Given the description of an element on the screen output the (x, y) to click on. 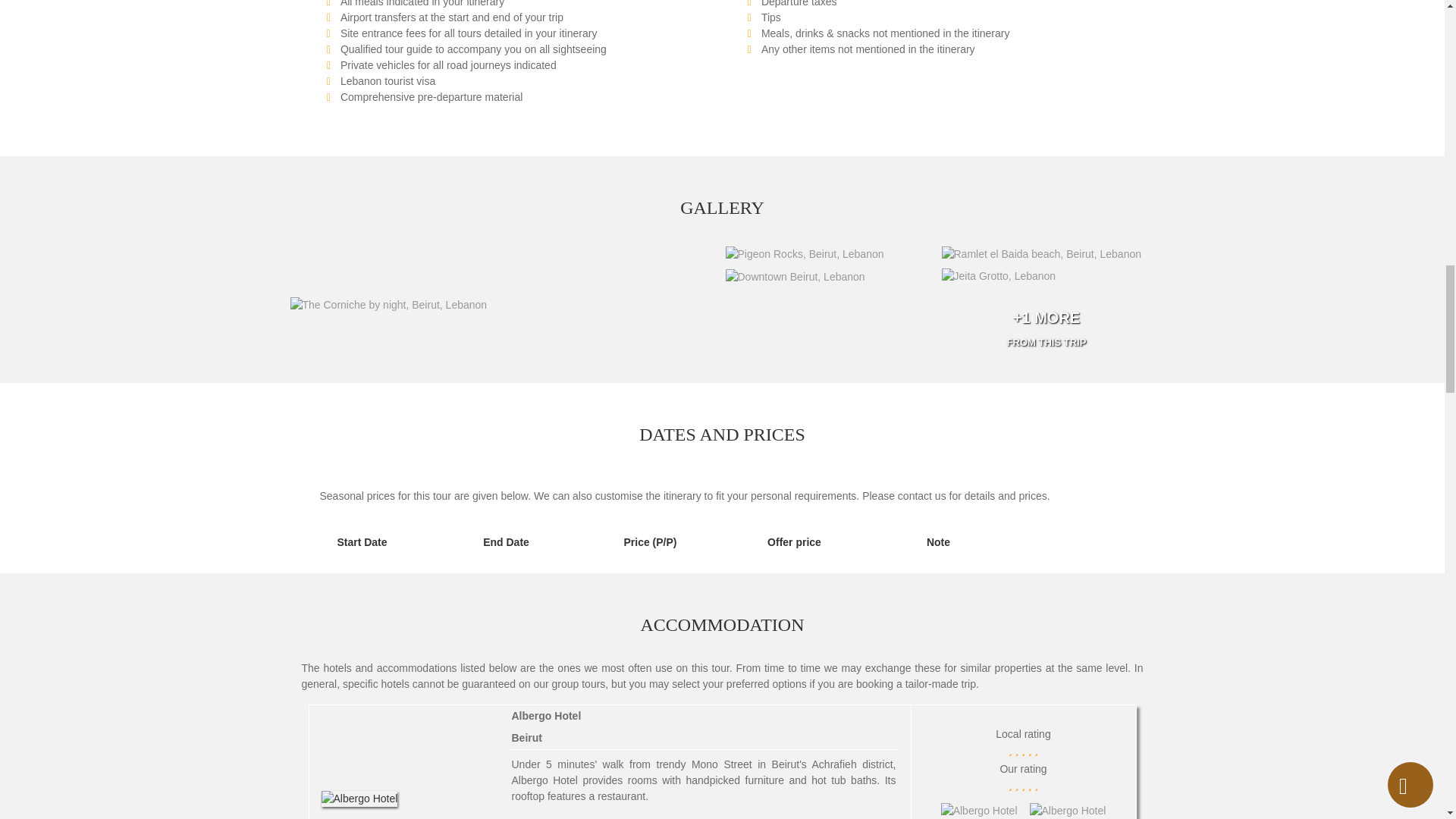
Albergo Hotel trip advisor rating  (1067, 807)
Albergo Hotel website  (978, 807)
